Given the description of an element on the screen output the (x, y) to click on. 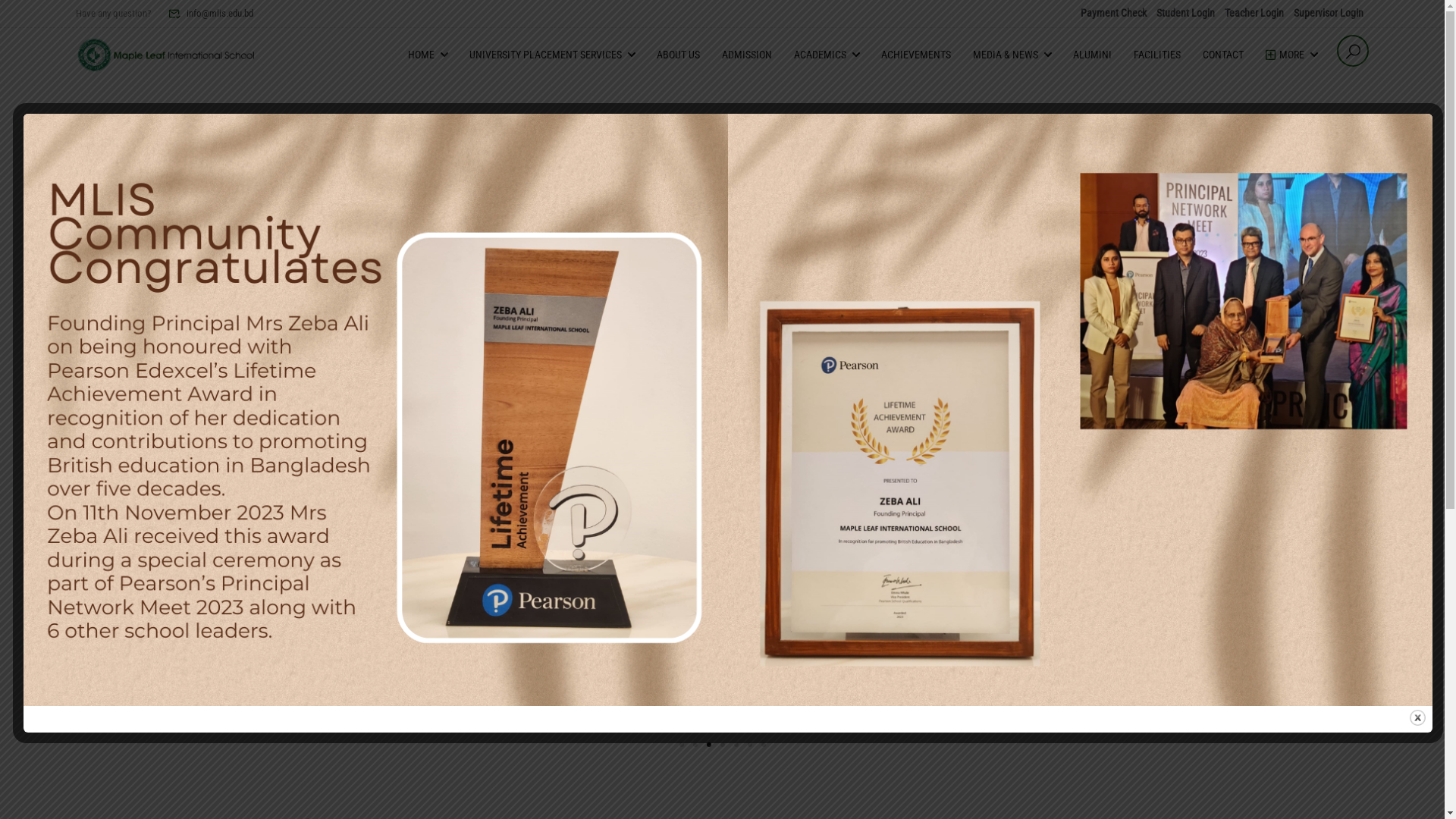
Teacher Login Element type: text (1253, 12)
info@mlis.edu.bd Element type: text (210, 12)
Student Login Element type: text (1185, 12)
MORE Element type: text (1283, 54)
FACILITIES Element type: text (1156, 54)
ABOUT US Element type: text (677, 54)
CONTACT Element type: text (1222, 54)
ALUMINI Element type: text (1092, 54)
ACHIEVEMENTS Element type: text (915, 54)
ADMISSION Element type: text (746, 54)
Supervisor Login Element type: text (1328, 12)
Payment Check Element type: text (1113, 12)
ACADEMICS Element type: text (818, 54)
Home. Element type: text (1028, 419)
MEDIA & NEWS Element type: text (1004, 54)
UNIVERSITY PLACEMENT SERVICES Element type: text (544, 54)
HOME Element type: text (420, 54)
